Given the description of an element on the screen output the (x, y) to click on. 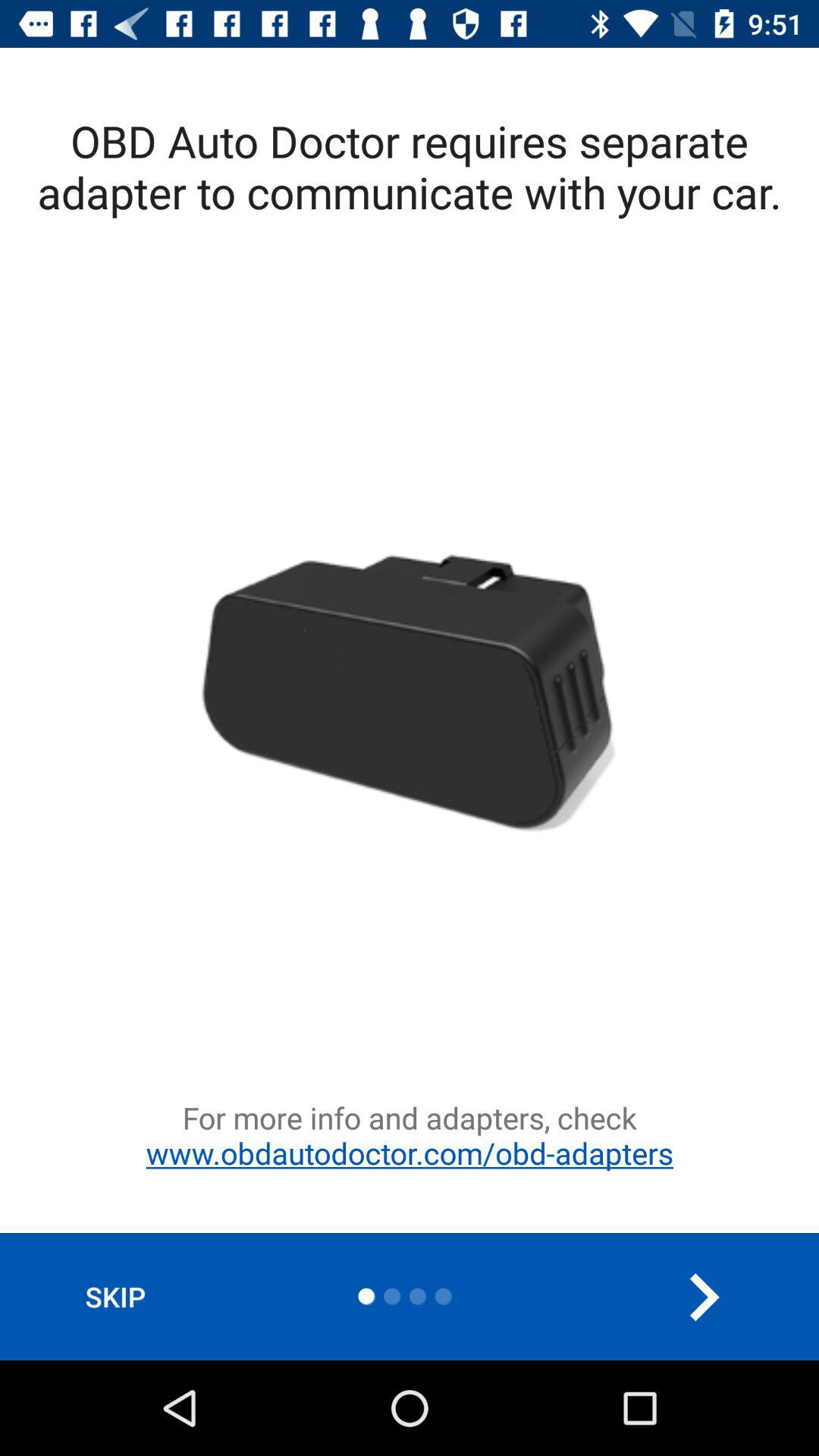
forward page (703, 1296)
